Given the description of an element on the screen output the (x, y) to click on. 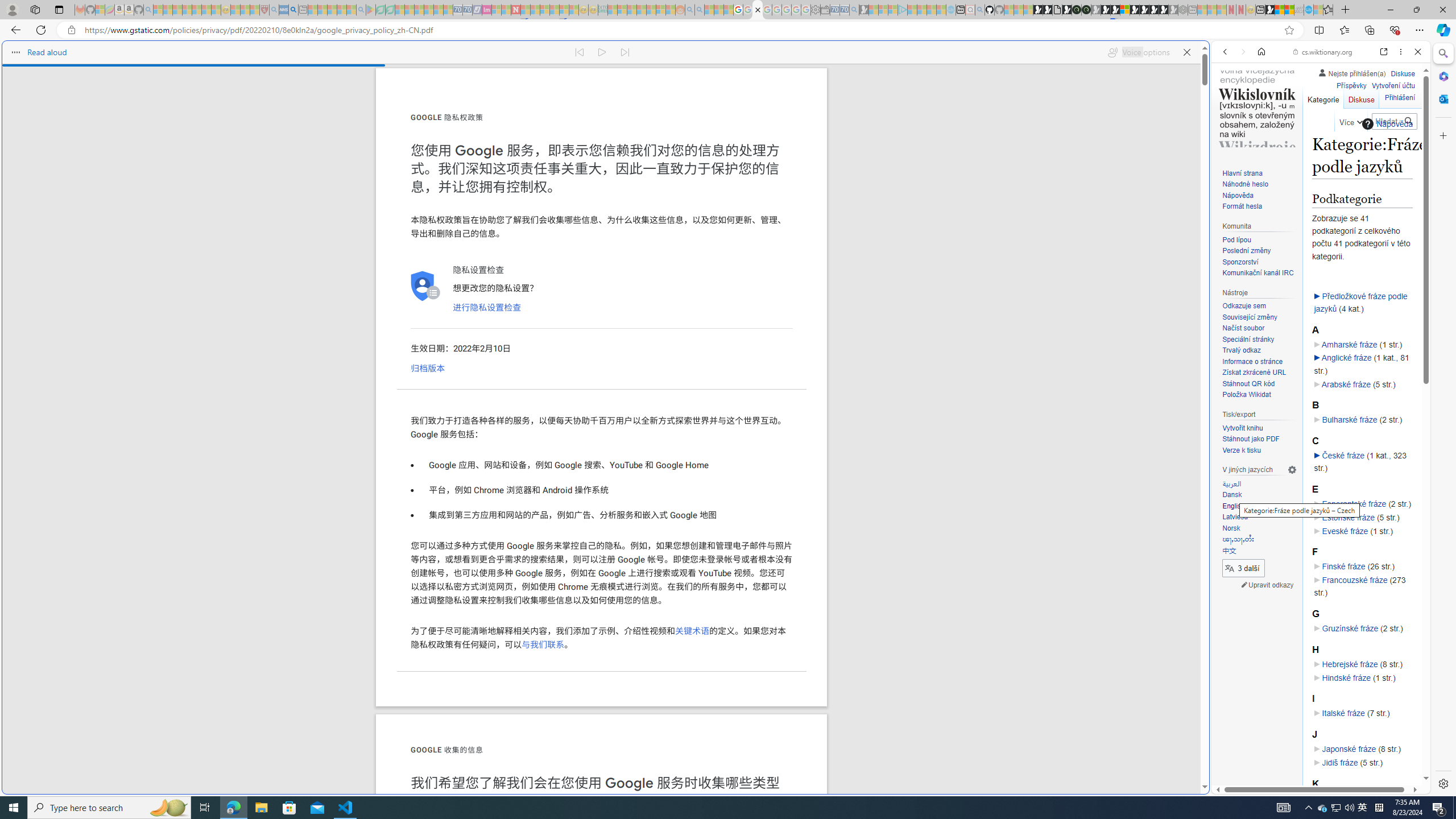
Read previous paragraph (579, 52)
English (1232, 505)
Wiktionary (1315, 380)
Voice options (1138, 52)
WEB   (1230, 130)
Utah sues federal government - Search - Sleeping (699, 9)
